Given the description of an element on the screen output the (x, y) to click on. 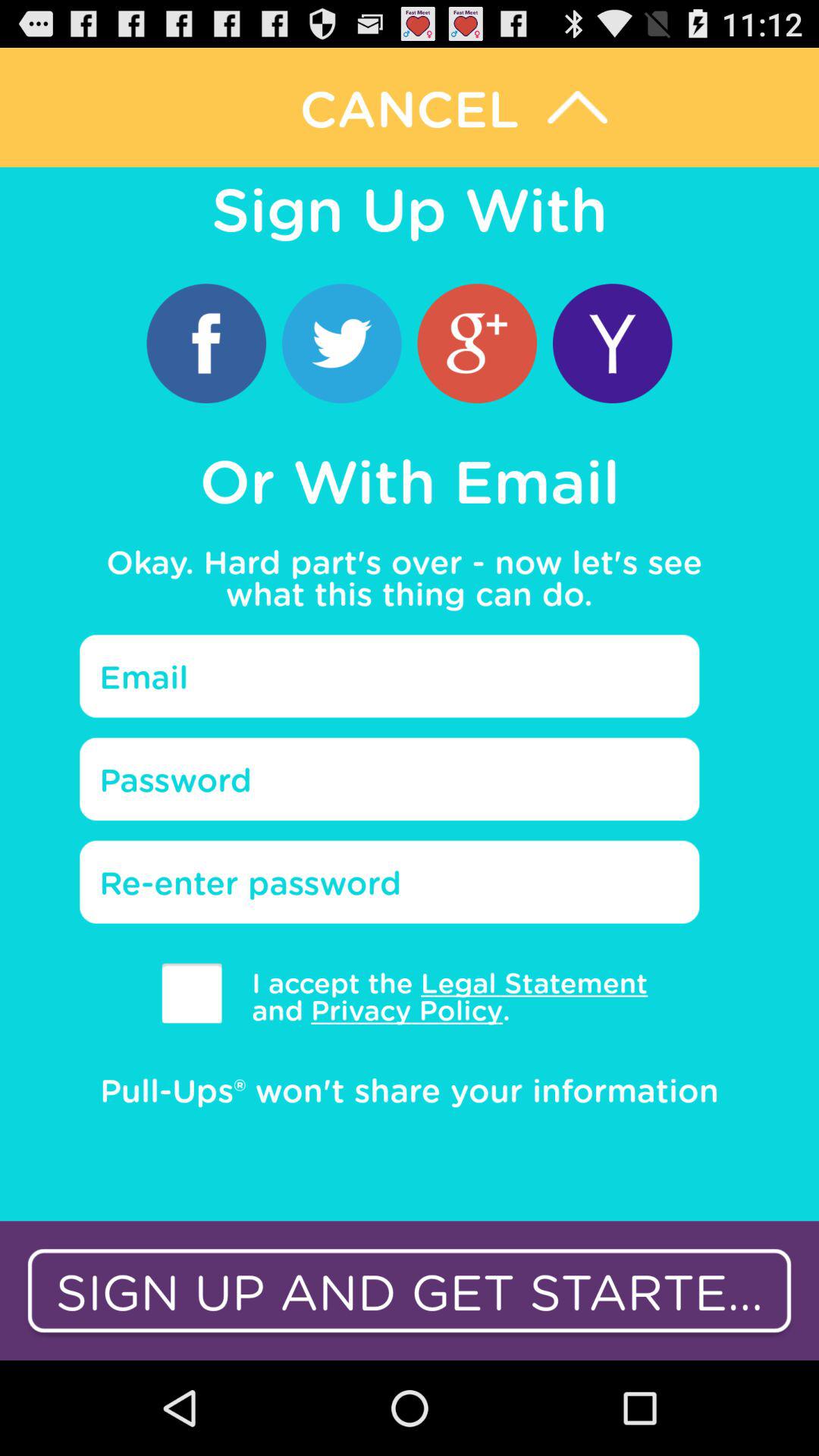
flag to accept (191, 993)
